Given the description of an element on the screen output the (x, y) to click on. 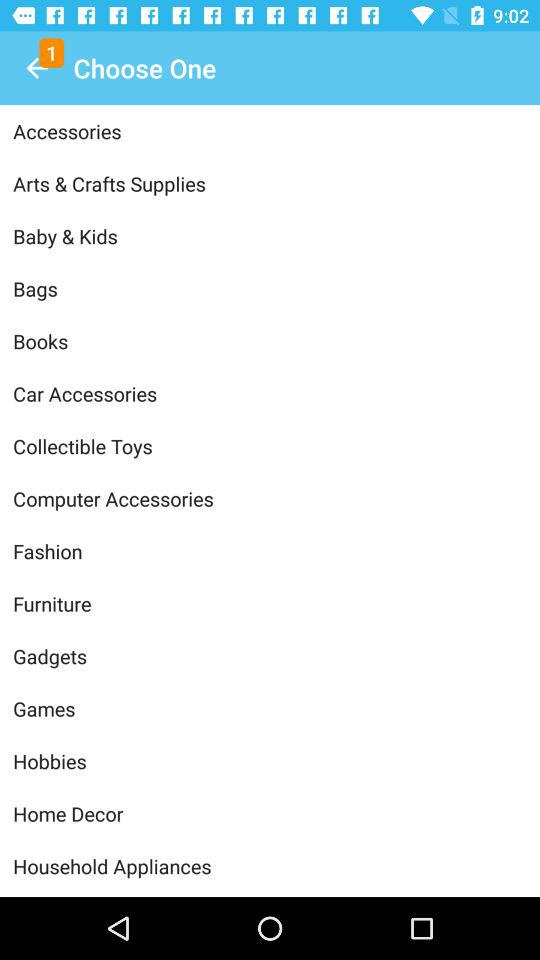
choose the car accessories icon (269, 393)
